Given the description of an element on the screen output the (x, y) to click on. 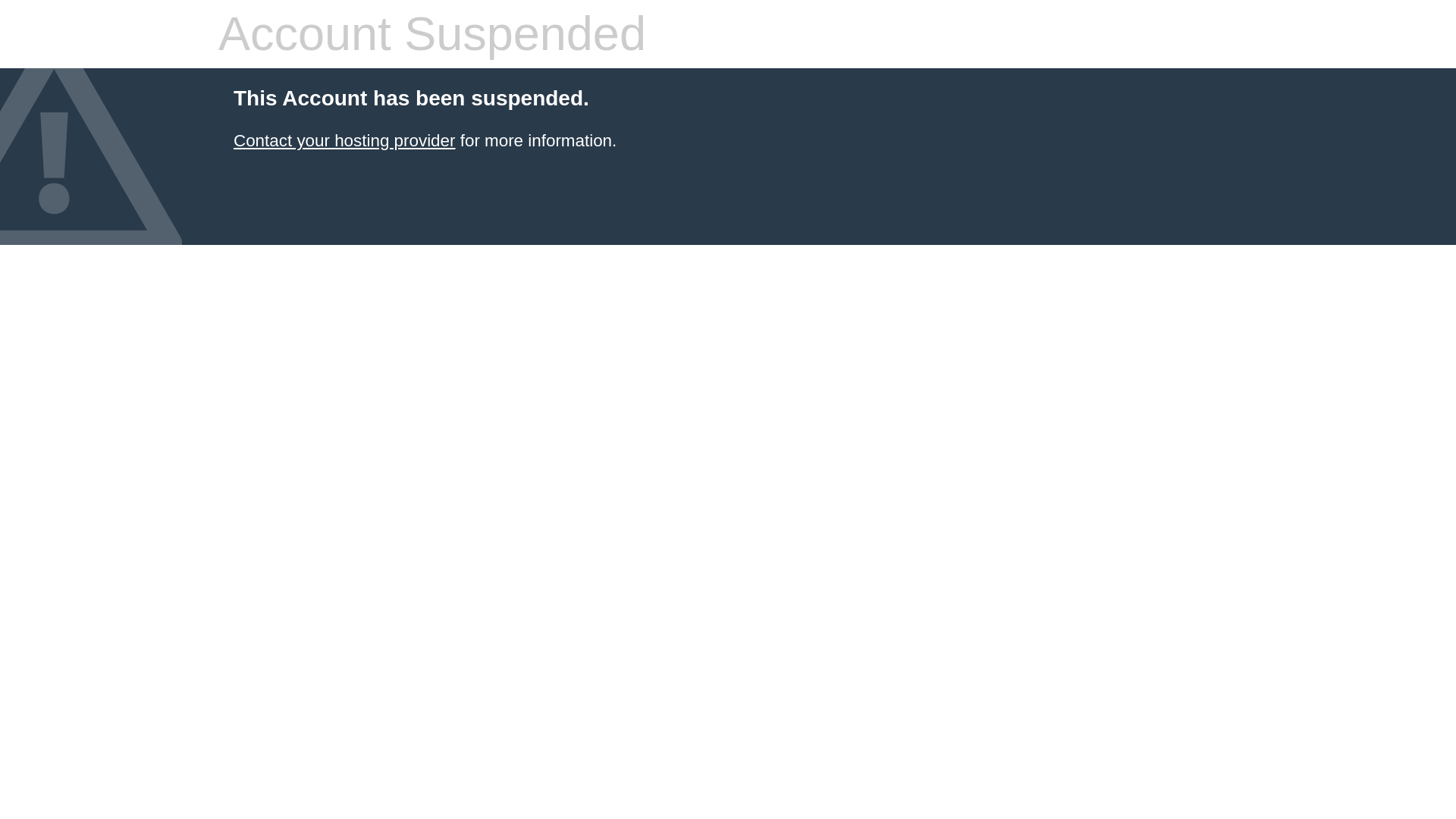
Contact your hosting provider (343, 140)
